Given the description of an element on the screen output the (x, y) to click on. 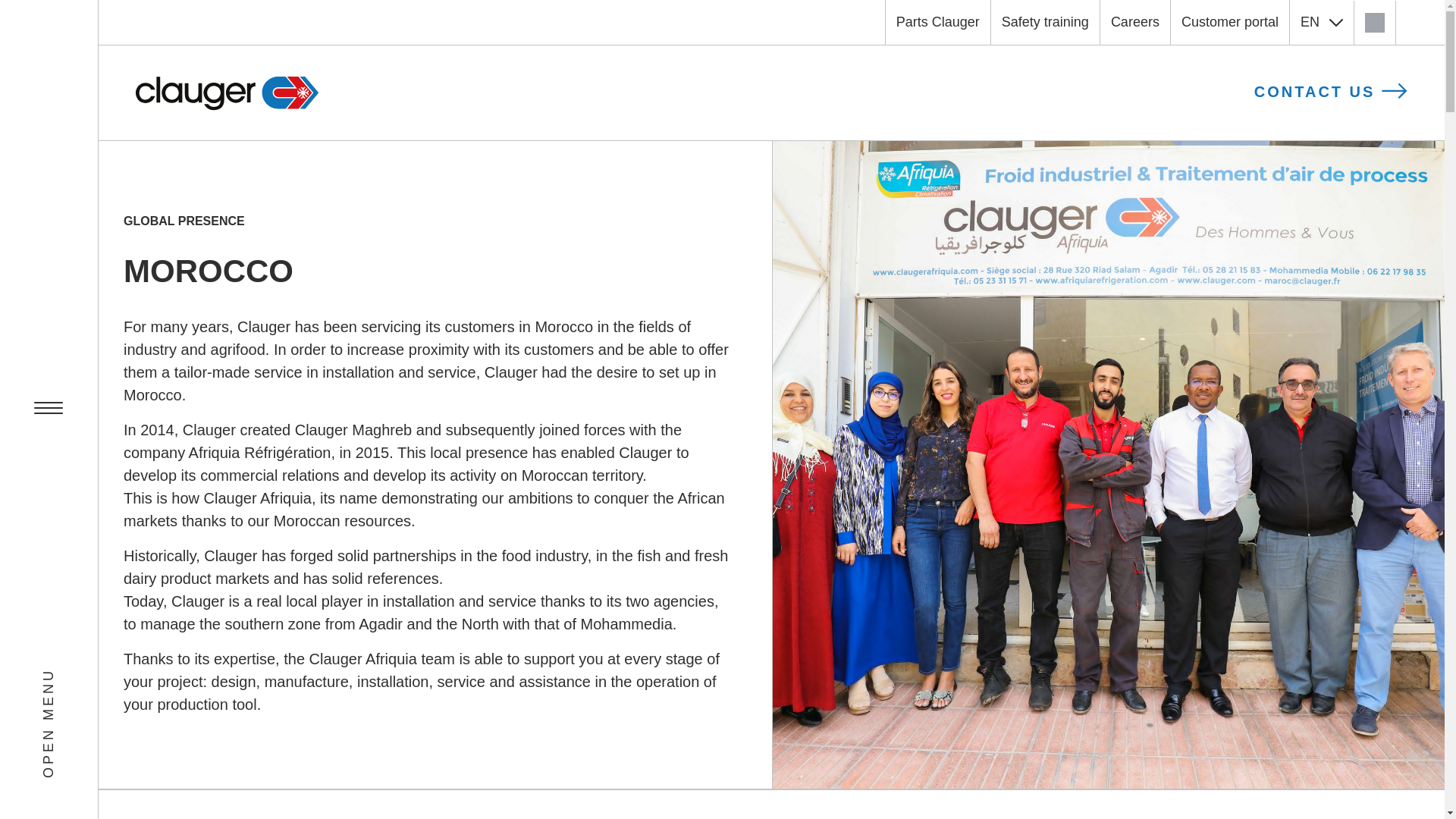
Homepage (226, 93)
Languages available (1322, 22)
Open menu (48, 409)
Contact us (1330, 93)
Search (1374, 21)
Search (1374, 21)
